Given the description of an element on the screen output the (x, y) to click on. 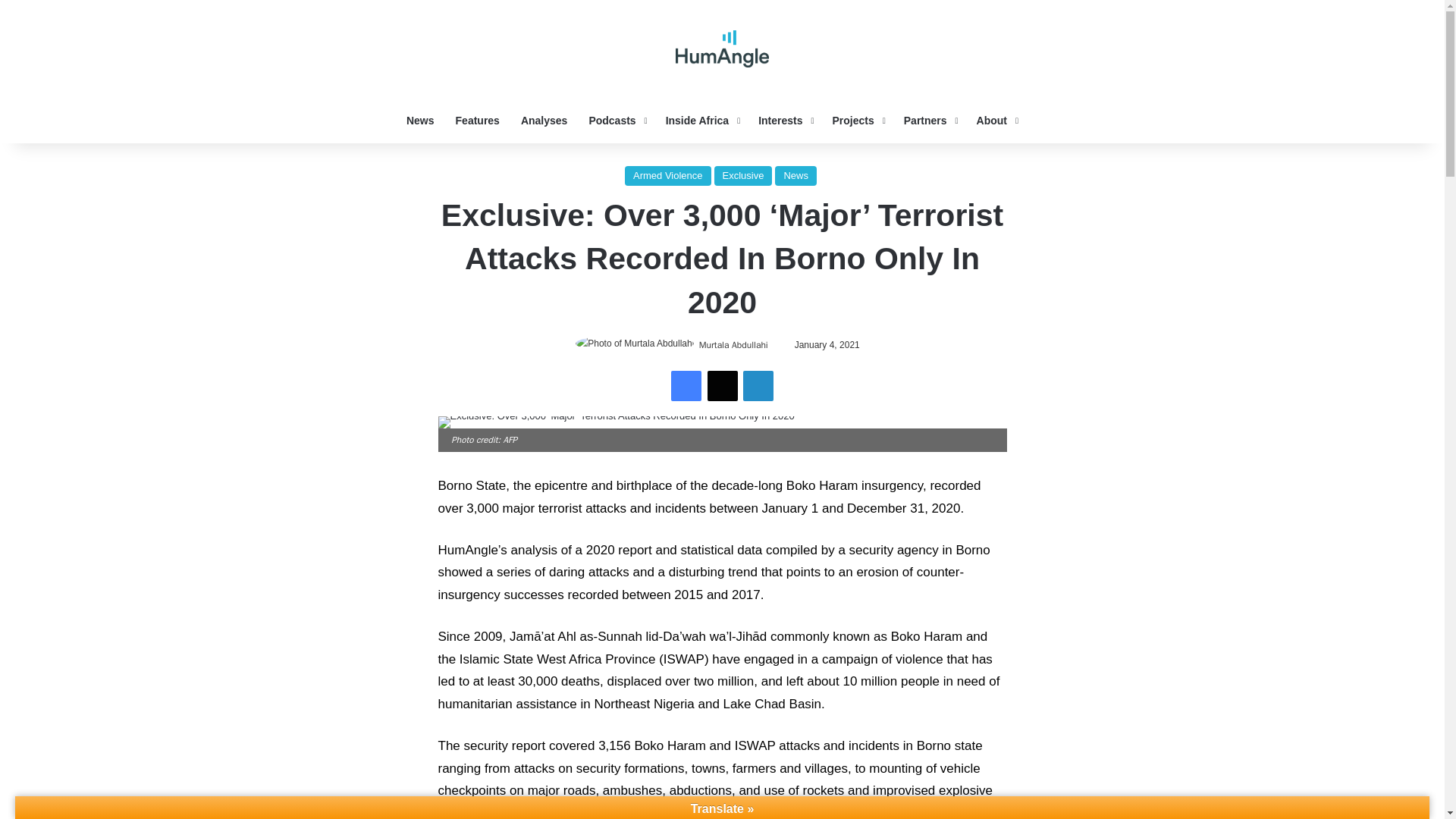
Facebook (686, 386)
X (721, 386)
Murtala Abdullahi (733, 345)
Inside Africa (701, 120)
Interests (784, 120)
Podcasts (615, 120)
Analyses (544, 120)
HumAngle (721, 48)
Features (478, 120)
News (420, 120)
